Given the description of an element on the screen output the (x, y) to click on. 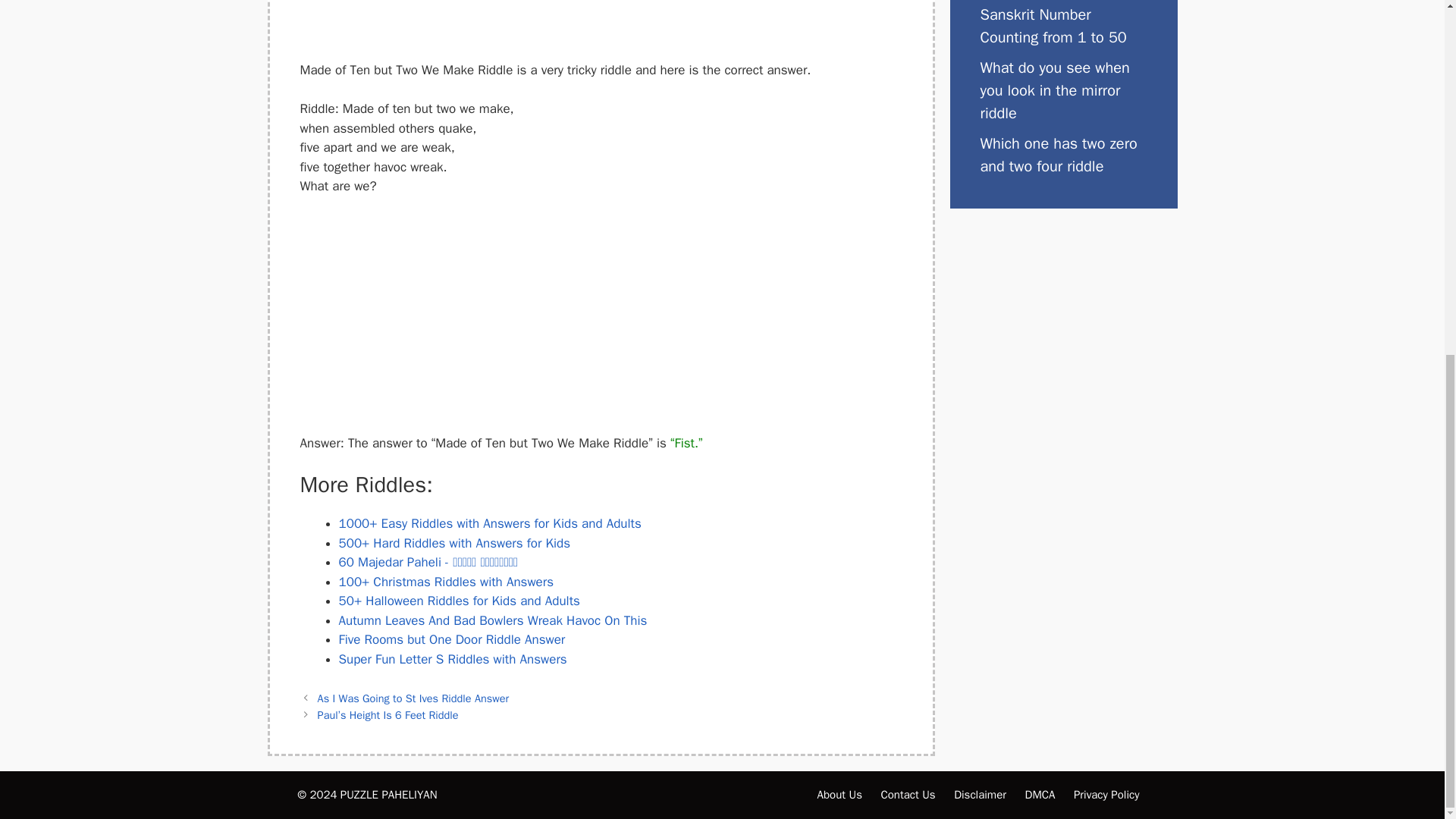
As I Was Going to St Ives Riddle Answer (413, 698)
Super Fun Letter S Riddles with Answers (451, 659)
Advertisement (600, 321)
Five Rooms but One Door Riddle Answer (450, 639)
Advertisement (600, 27)
Autumn Leaves And Bad Bowlers Wreak Havoc On This (491, 620)
